Given the description of an element on the screen output the (x, y) to click on. 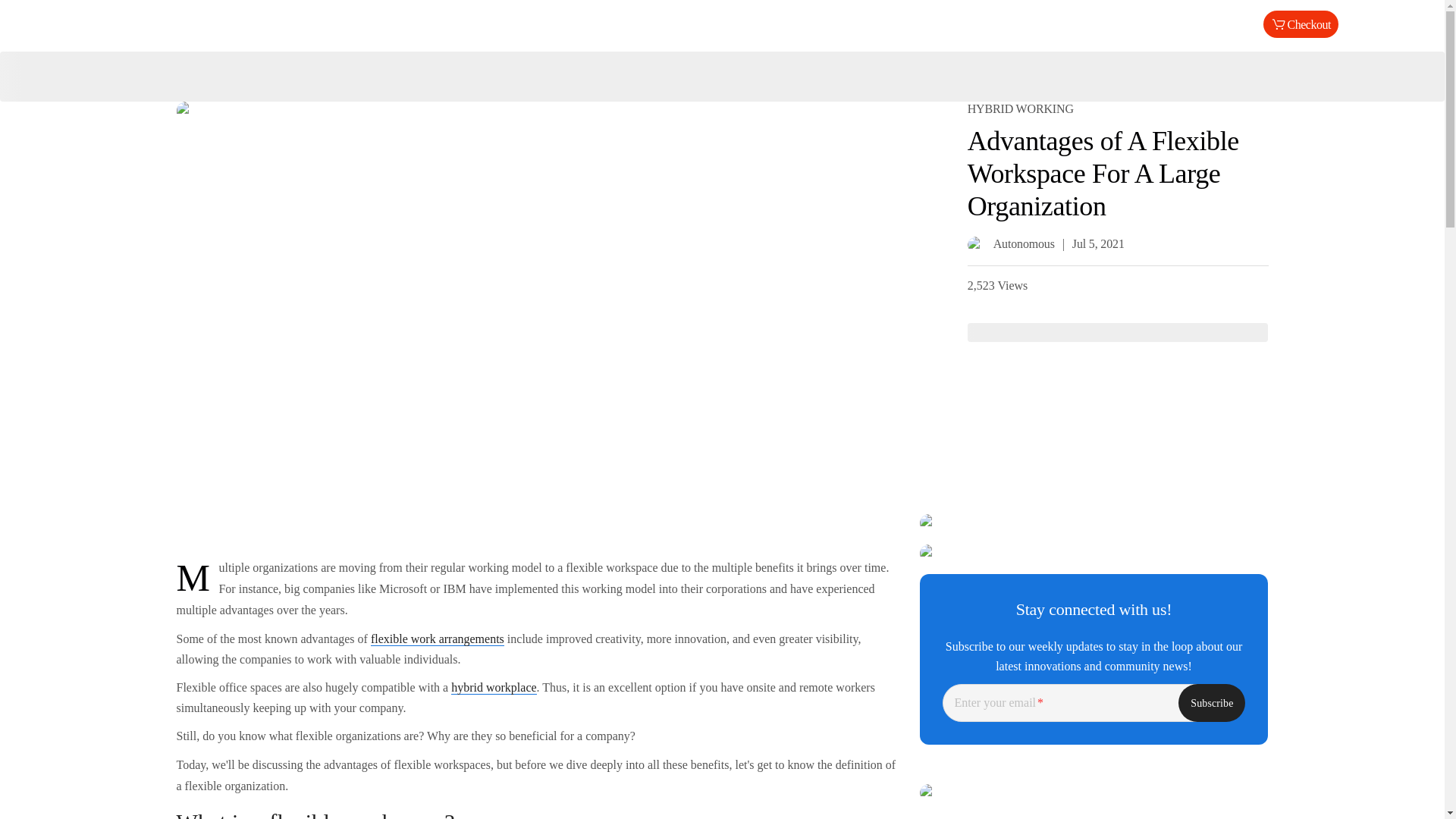
Autonomous (1011, 244)
flexible work arrangements (437, 639)
Subscribe (1210, 702)
Autonomous (721, 23)
hybrid workplace (493, 687)
Click go to homepage (721, 23)
